Given the description of an element on the screen output the (x, y) to click on. 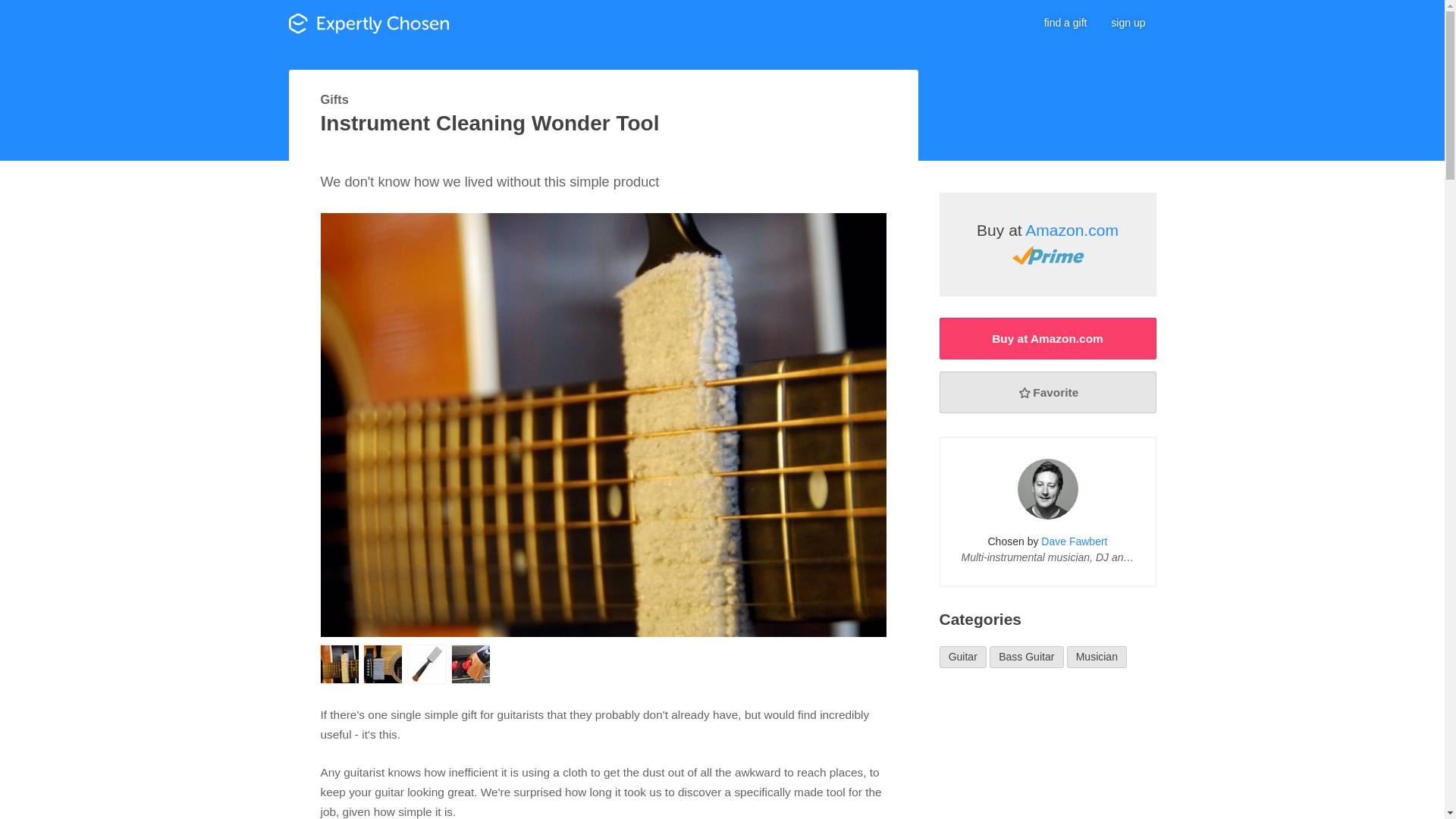
Buy at Amazon.com (1047, 338)
Shortlist gift (1047, 392)
Find out more and buy at Amazon.com (1047, 338)
Musician (1096, 657)
Favorite (1047, 392)
sign up (1128, 23)
Gifts (333, 99)
Guitar (963, 657)
Dave Fawbert (1047, 488)
Dave Fawbert (1073, 541)
Bass Guitar (1027, 657)
Buy at Amazon.com (1047, 244)
find a gift (1065, 23)
